Given the description of an element on the screen output the (x, y) to click on. 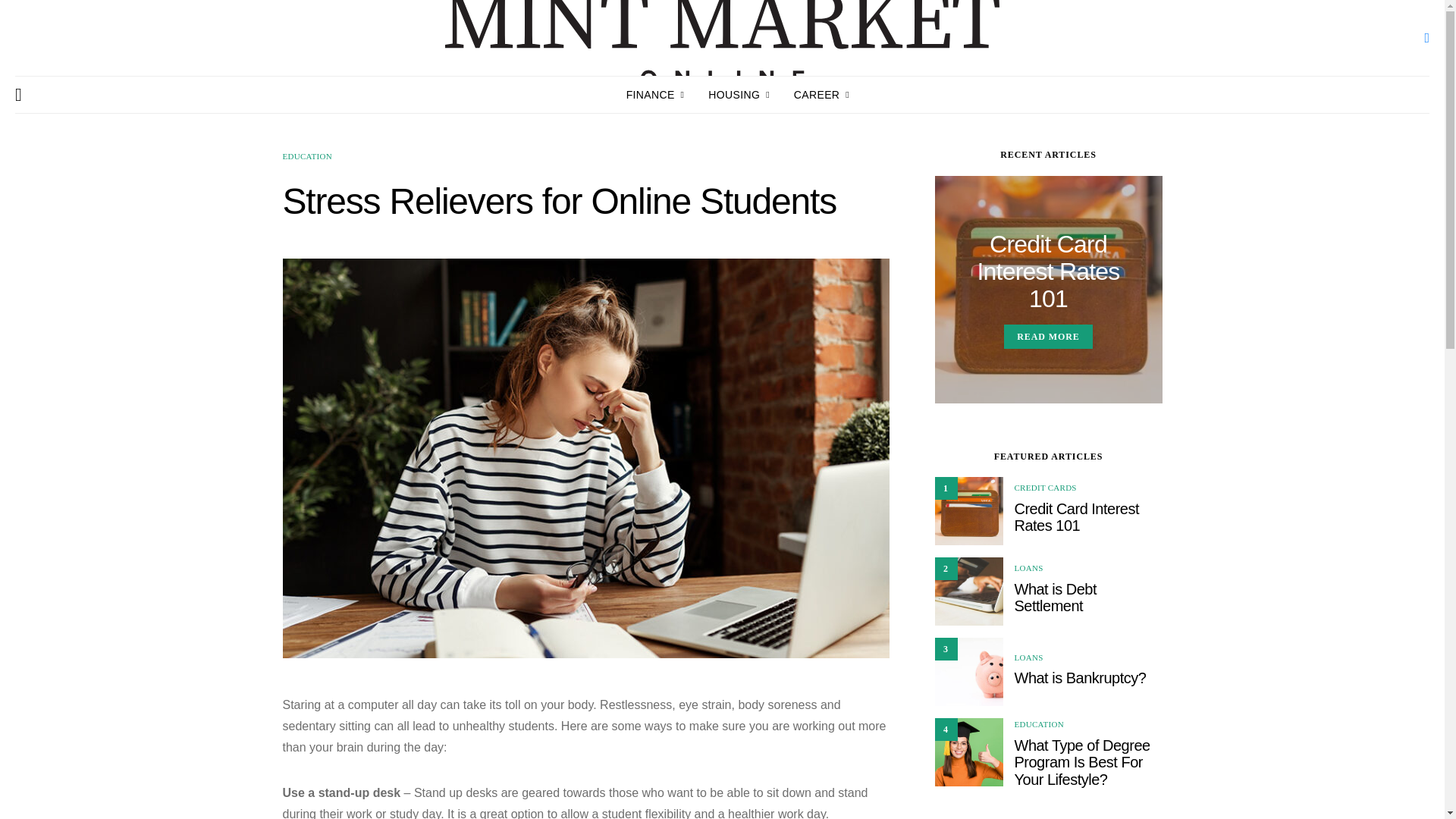
CAREER (820, 94)
FINANCE (655, 94)
HOUSING (738, 94)
EDUCATION (306, 155)
